Given the description of an element on the screen output the (x, y) to click on. 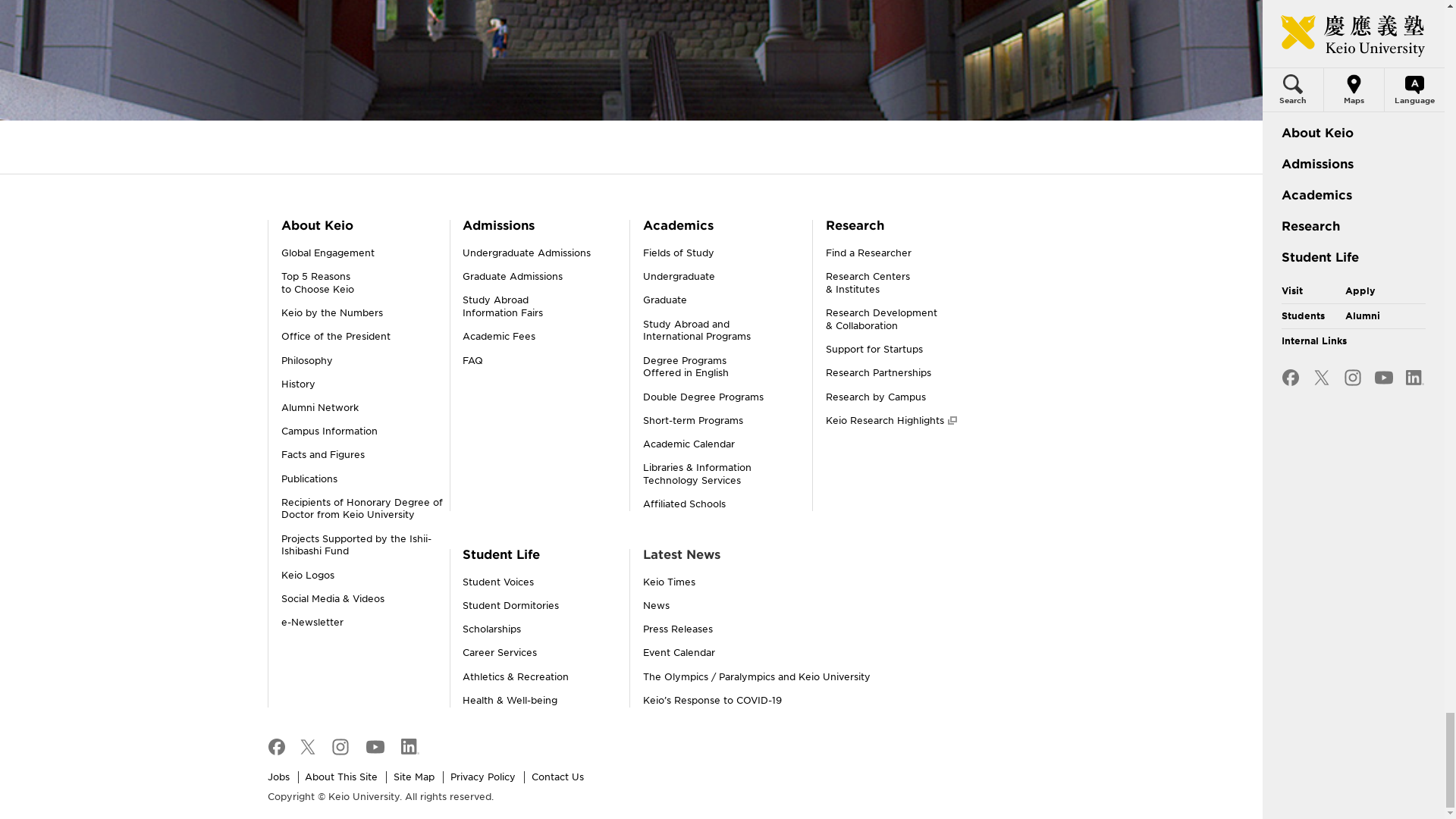
Global Engagement (327, 252)
Undergraduate Admissions (527, 252)
Publications (308, 478)
Academic Fees (499, 336)
Alumni Network (319, 407)
e-Newsletter (311, 622)
Keio Logos (503, 306)
Admissions (307, 574)
Campus Information (498, 225)
Graduate Admissions (329, 430)
Projects Supported by the Ishii-Ishibashi Fund (512, 276)
About Keio (355, 545)
FAQ (316, 225)
History (473, 360)
